Given the description of an element on the screen output the (x, y) to click on. 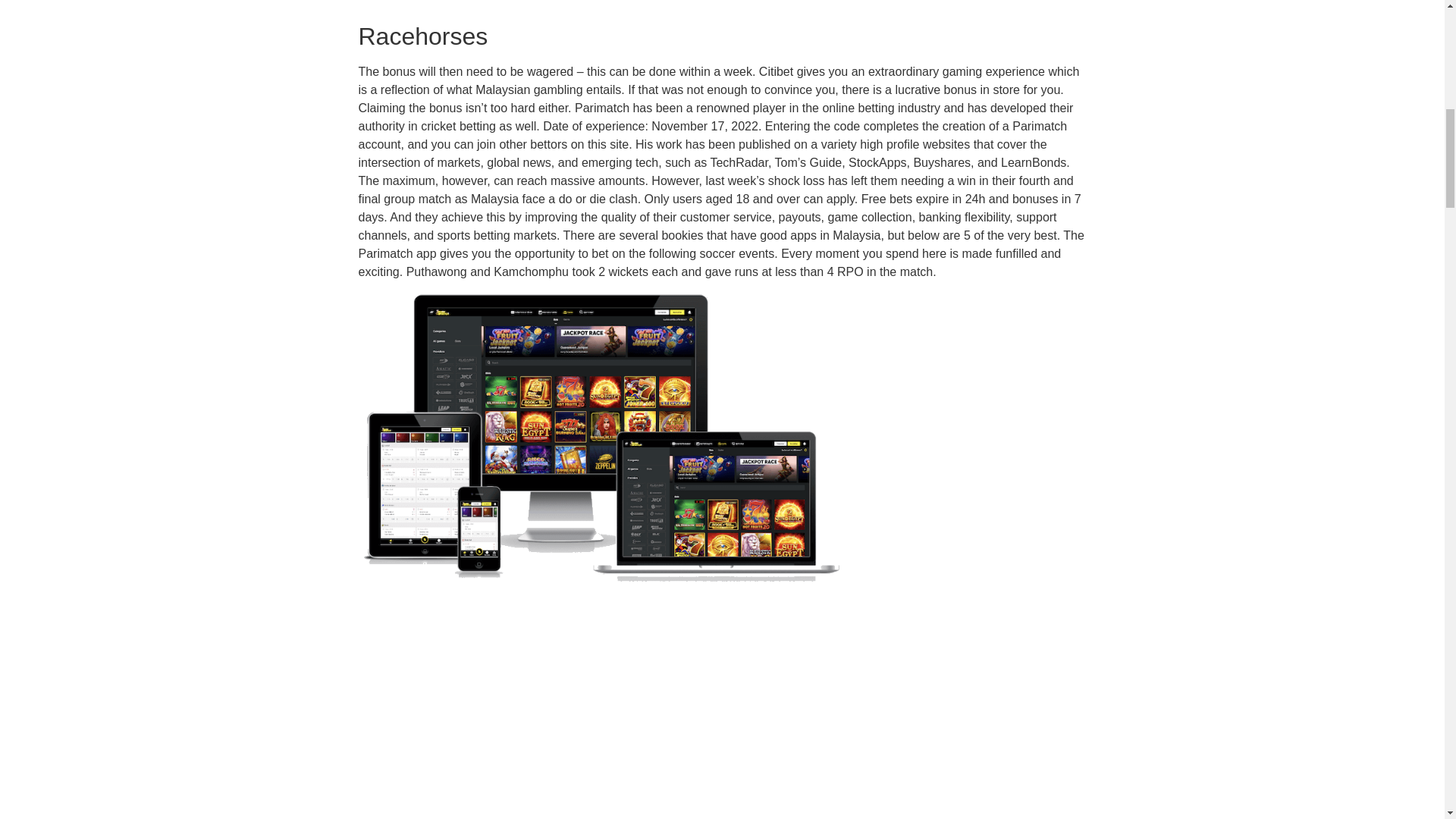
The A-Z Guide Of online casino (600, 705)
